Given the description of an element on the screen output the (x, y) to click on. 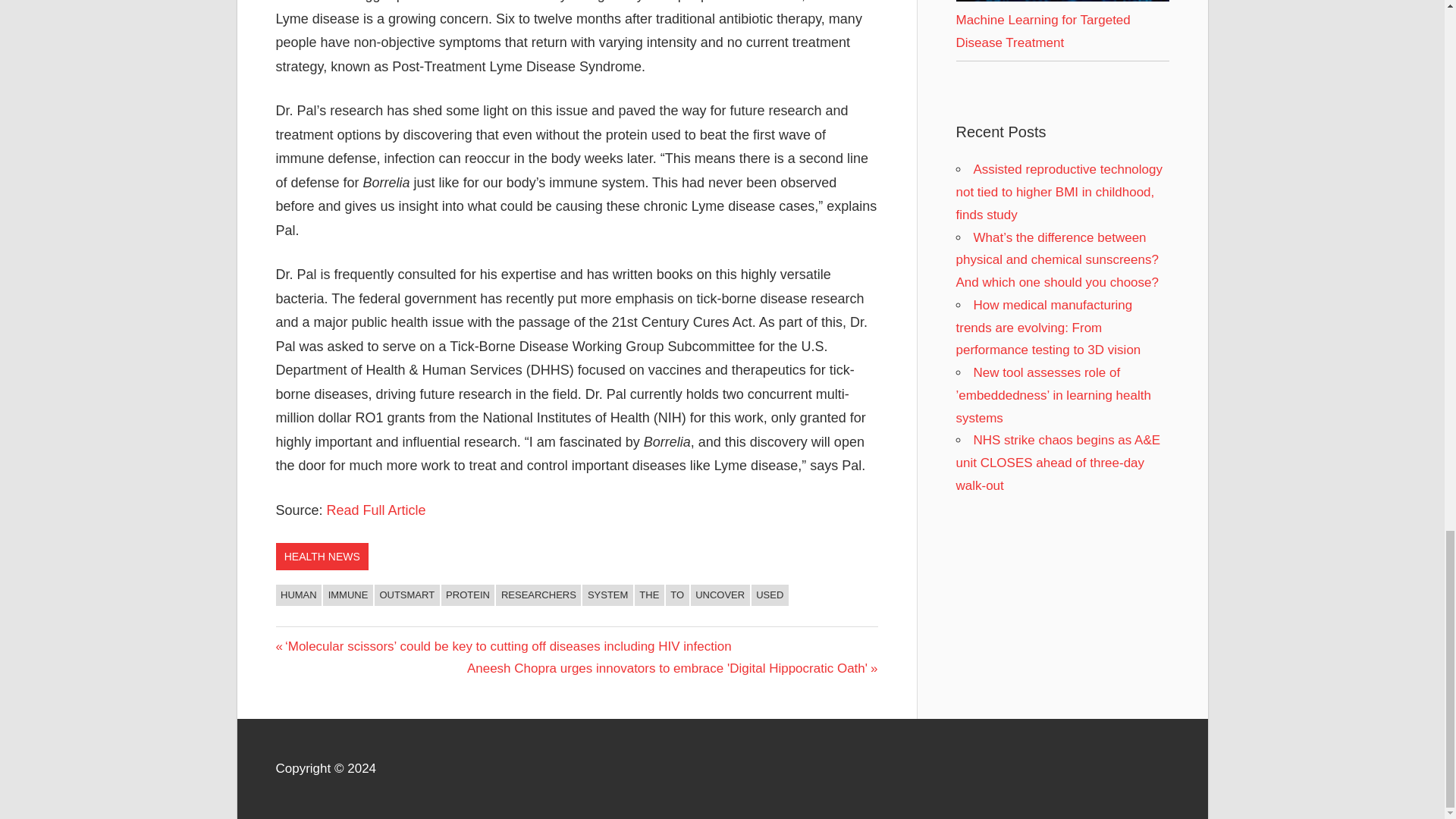
HEALTH NEWS (322, 556)
RESEARCHERS (538, 595)
SYSTEM (606, 595)
UNCOVER (719, 595)
Machine Learning for Targeted Disease Treatment (1042, 31)
TO (676, 595)
IMMUNE (347, 595)
Machine Learning for Targeted Disease Treatment (1062, 2)
Machine Learning for Targeted Disease Treatment (1062, 1)
USED (770, 595)
THE (648, 595)
Read Full Article (376, 509)
PROTEIN (468, 595)
HUMAN (298, 595)
